Given the description of an element on the screen output the (x, y) to click on. 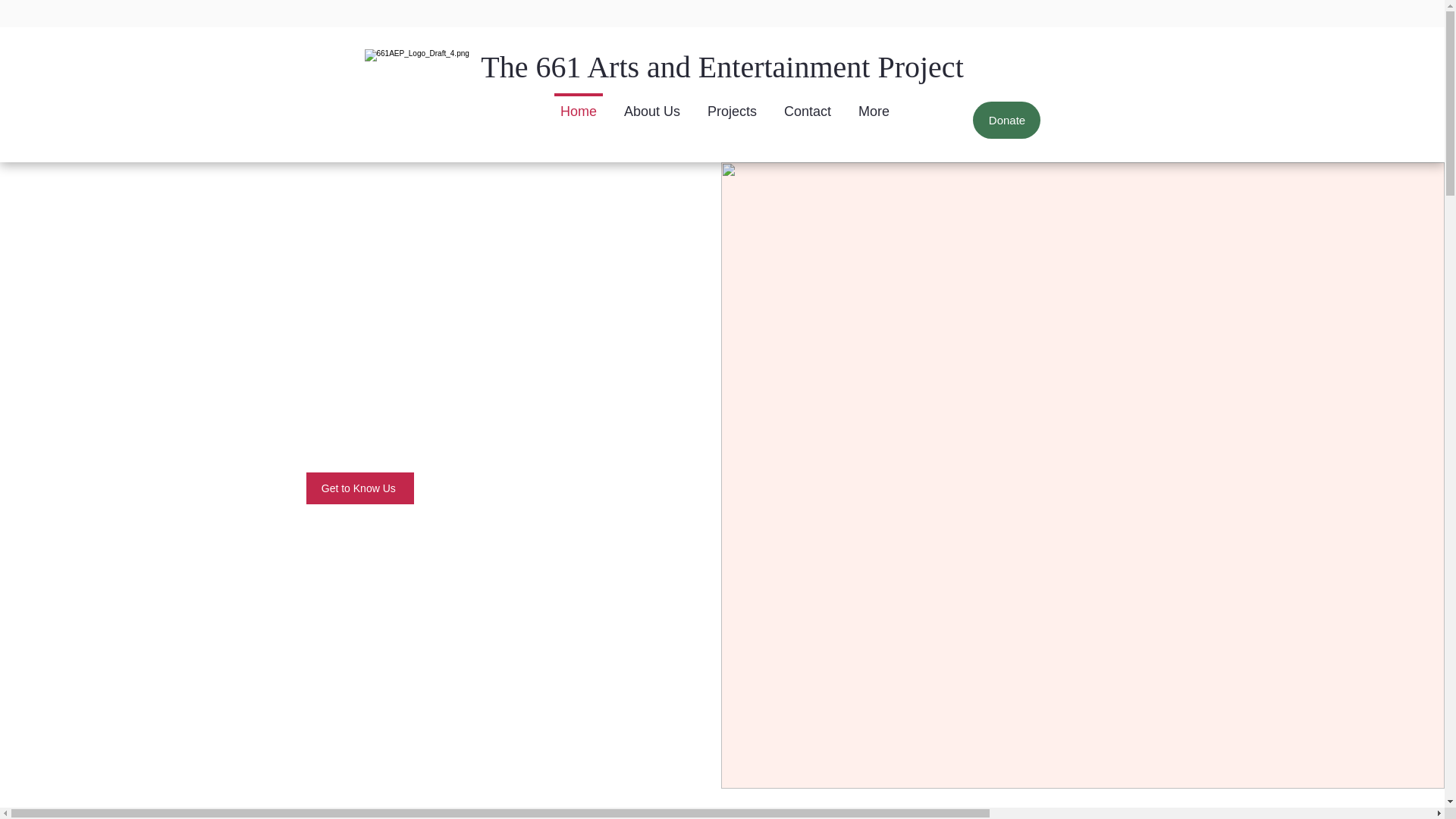
Projects (732, 114)
Contact (807, 114)
About Us (652, 114)
Home (578, 114)
Get to Know Us (359, 488)
Donate (1006, 119)
